Given the description of an element on the screen output the (x, y) to click on. 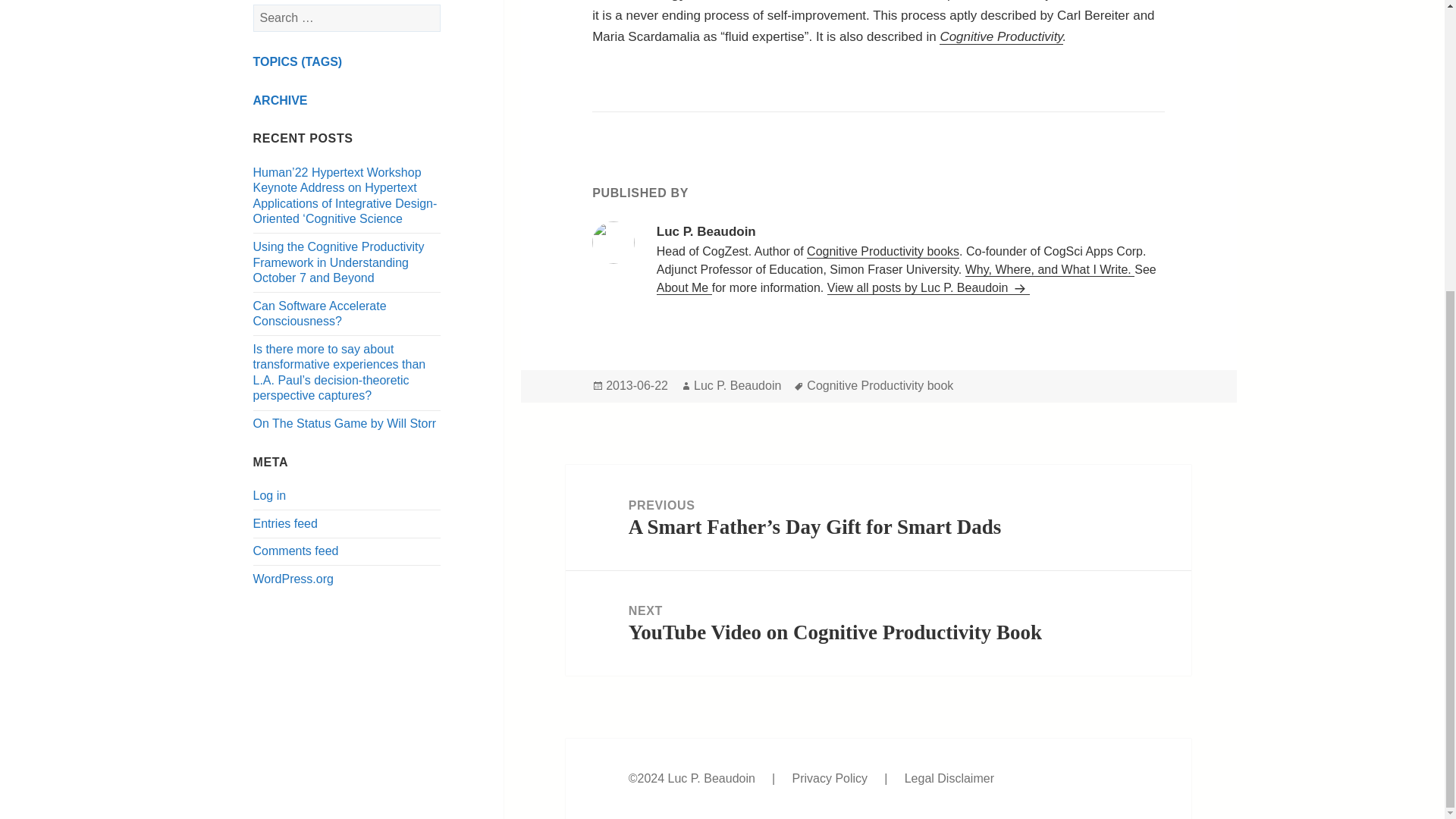
ARCHIVE (280, 100)
